Given the description of an element on the screen output the (x, y) to click on. 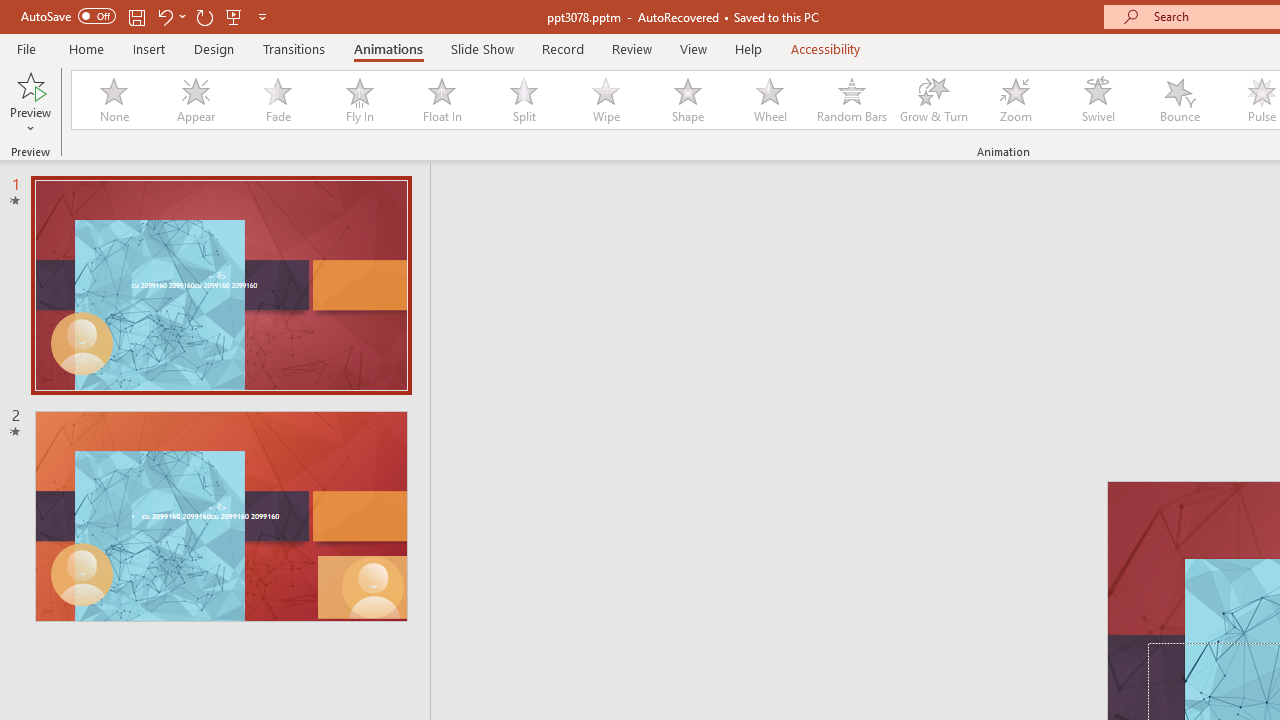
Fly In (359, 100)
Appear (195, 100)
Wipe (605, 100)
Random Bars (852, 100)
Wheel (770, 100)
Grow & Turn (934, 100)
